Given the description of an element on the screen output the (x, y) to click on. 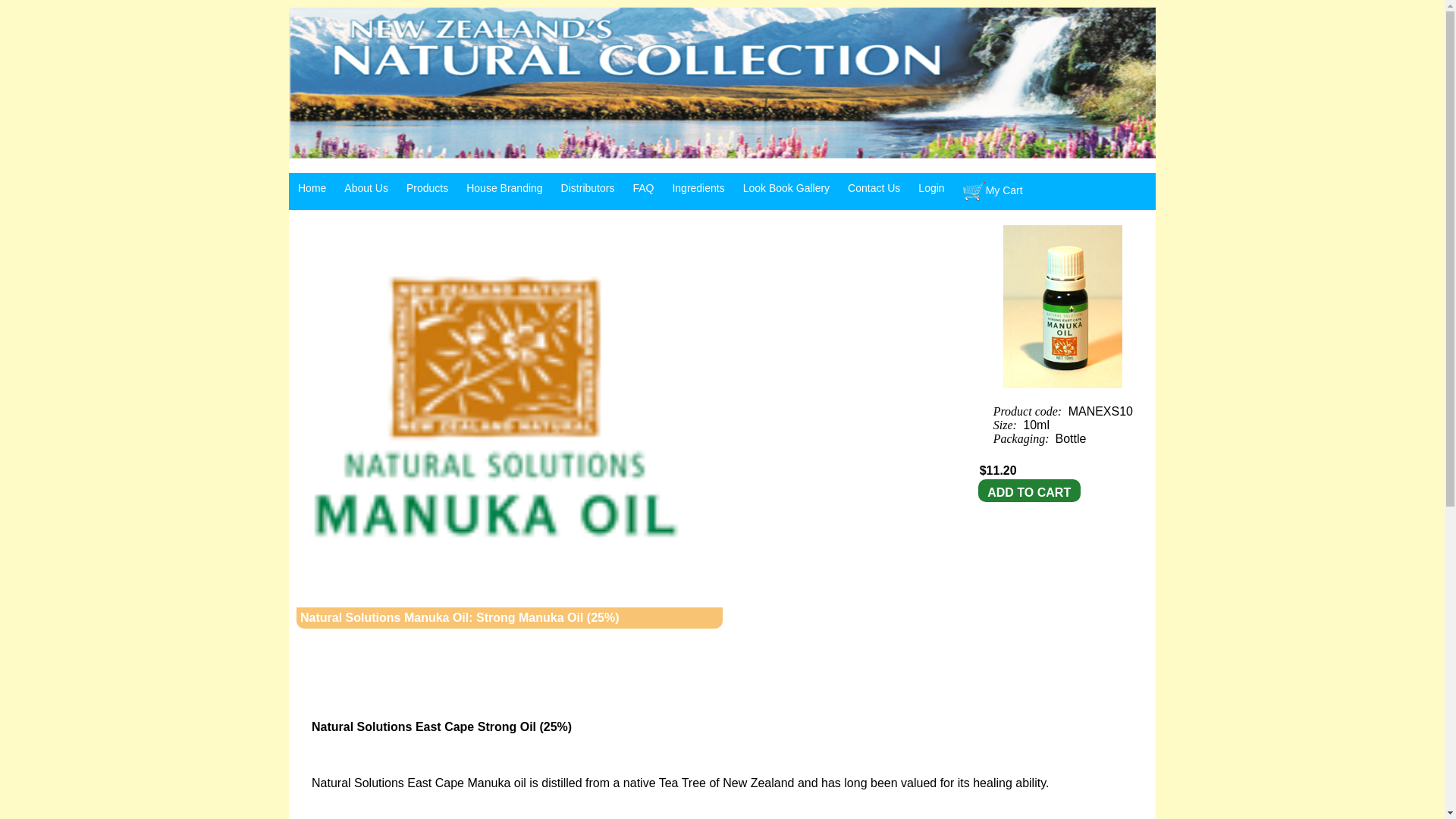
Products (427, 187)
Ingredients (697, 187)
About Us (365, 187)
Login (930, 187)
Contact Us (873, 187)
FAQ (642, 187)
Home (311, 187)
House Branding (504, 187)
Look Book Gallery (785, 187)
Go back to Natural Solutions Manuka Oil category (496, 398)
My Cart (992, 190)
ADD TO CART (1028, 492)
Distributors (587, 187)
